Given the description of an element on the screen output the (x, y) to click on. 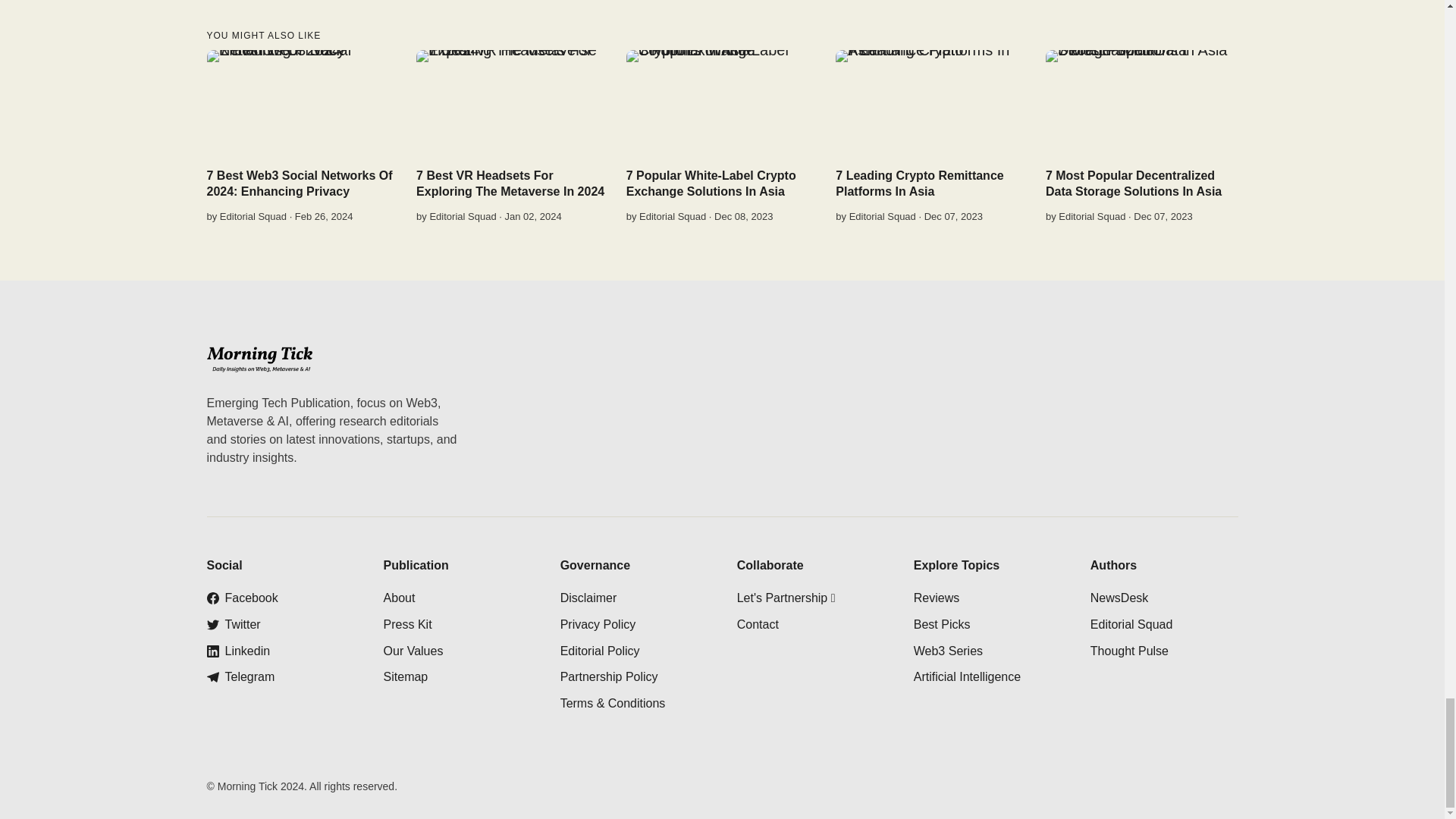
Editorial Squad (462, 215)
Editorial Squad (252, 215)
7 Best VR Headsets For Exploring The Metaverse In 2024 (510, 183)
7 Best Web3 Social Networks Of 2024: Enhancing Privacy (298, 183)
